Given the description of an element on the screen output the (x, y) to click on. 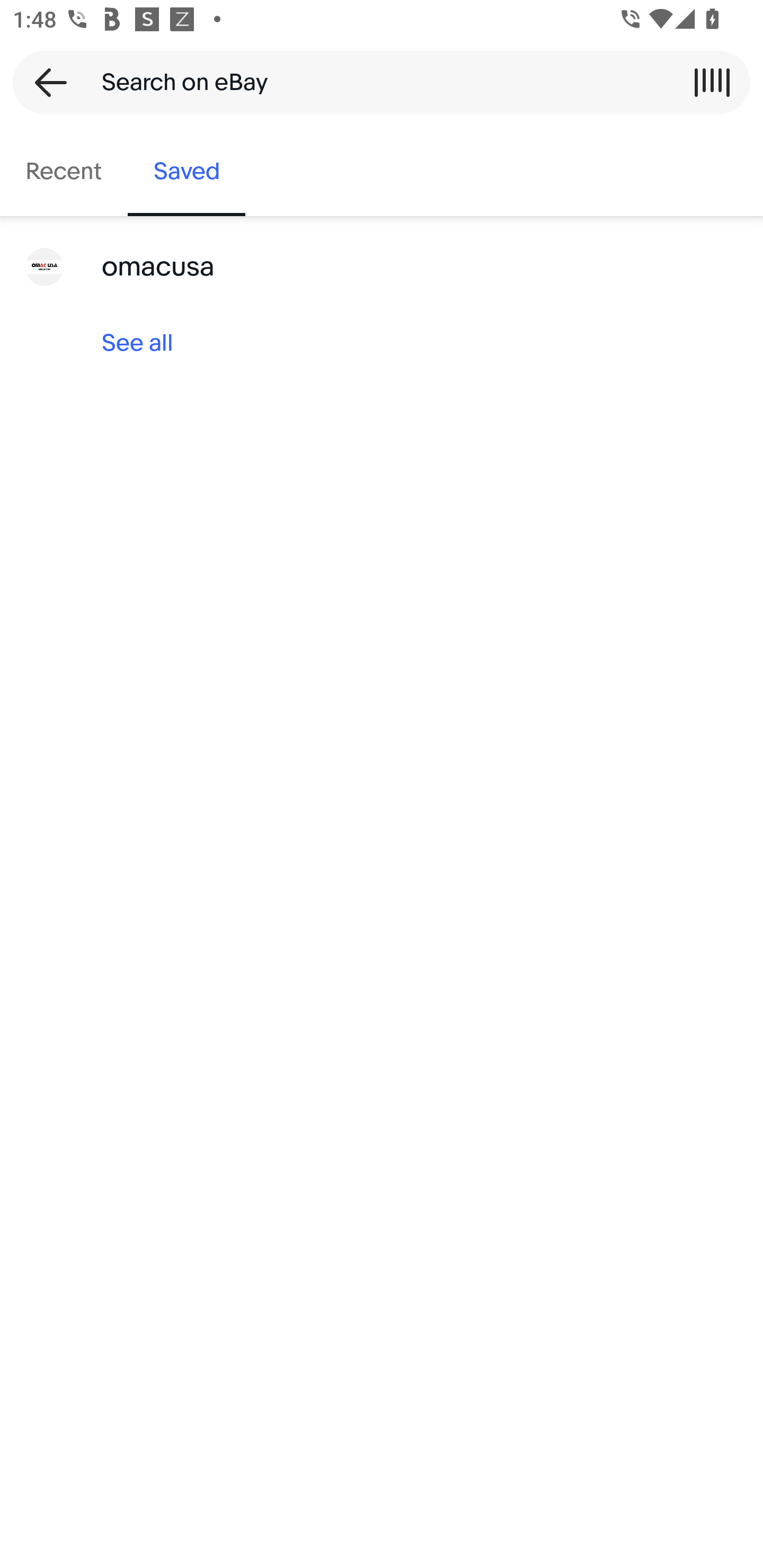
Back (44, 82)
Scan a barcode (711, 82)
Search on eBay (375, 82)
Recent, tab 1 of 2 Recent (63, 171)
User Search omacusa: omacusa (381, 266)
See all See all members (381, 343)
